Given the description of an element on the screen output the (x, y) to click on. 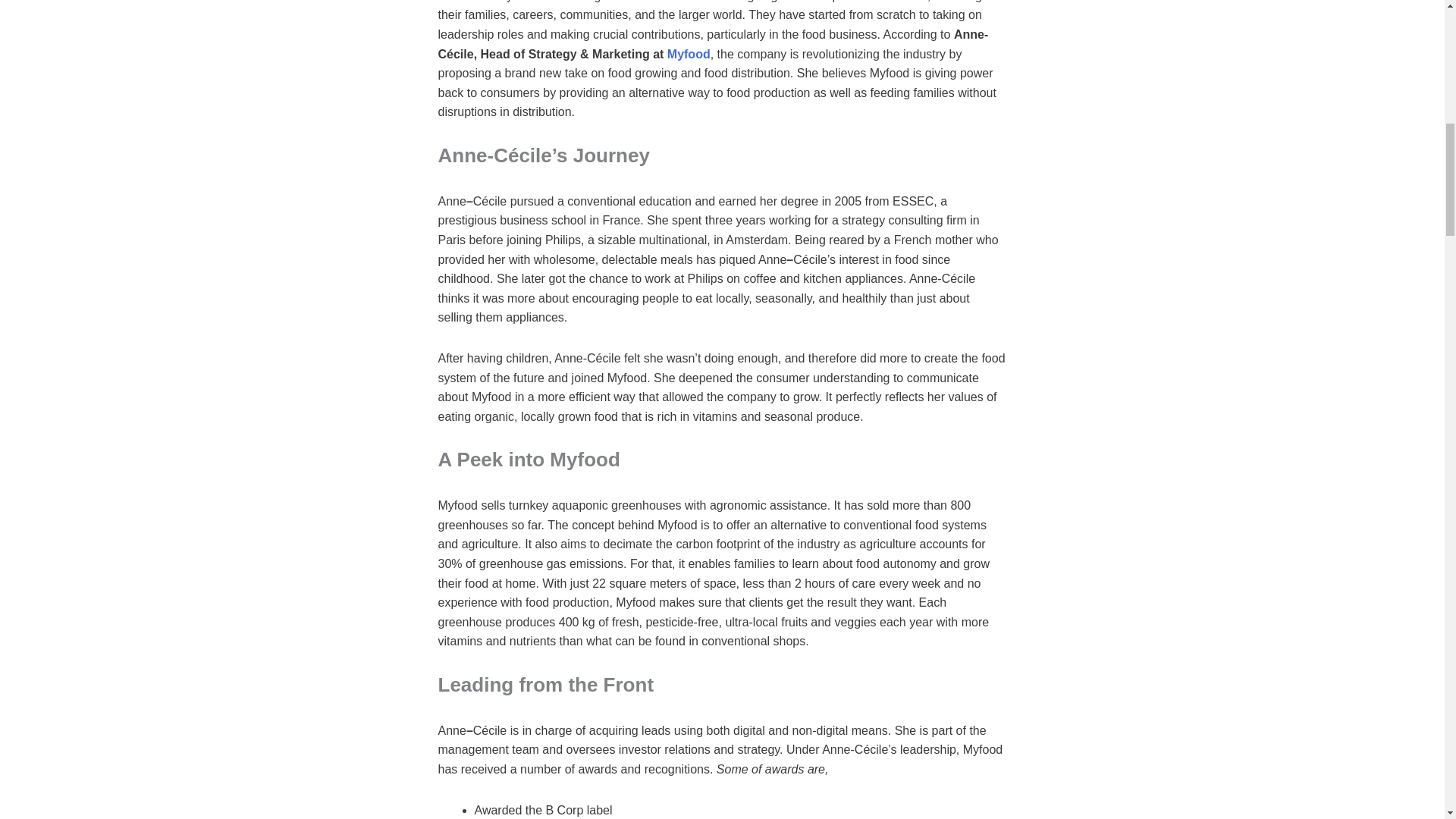
Myfood (688, 53)
